Given the description of an element on the screen output the (x, y) to click on. 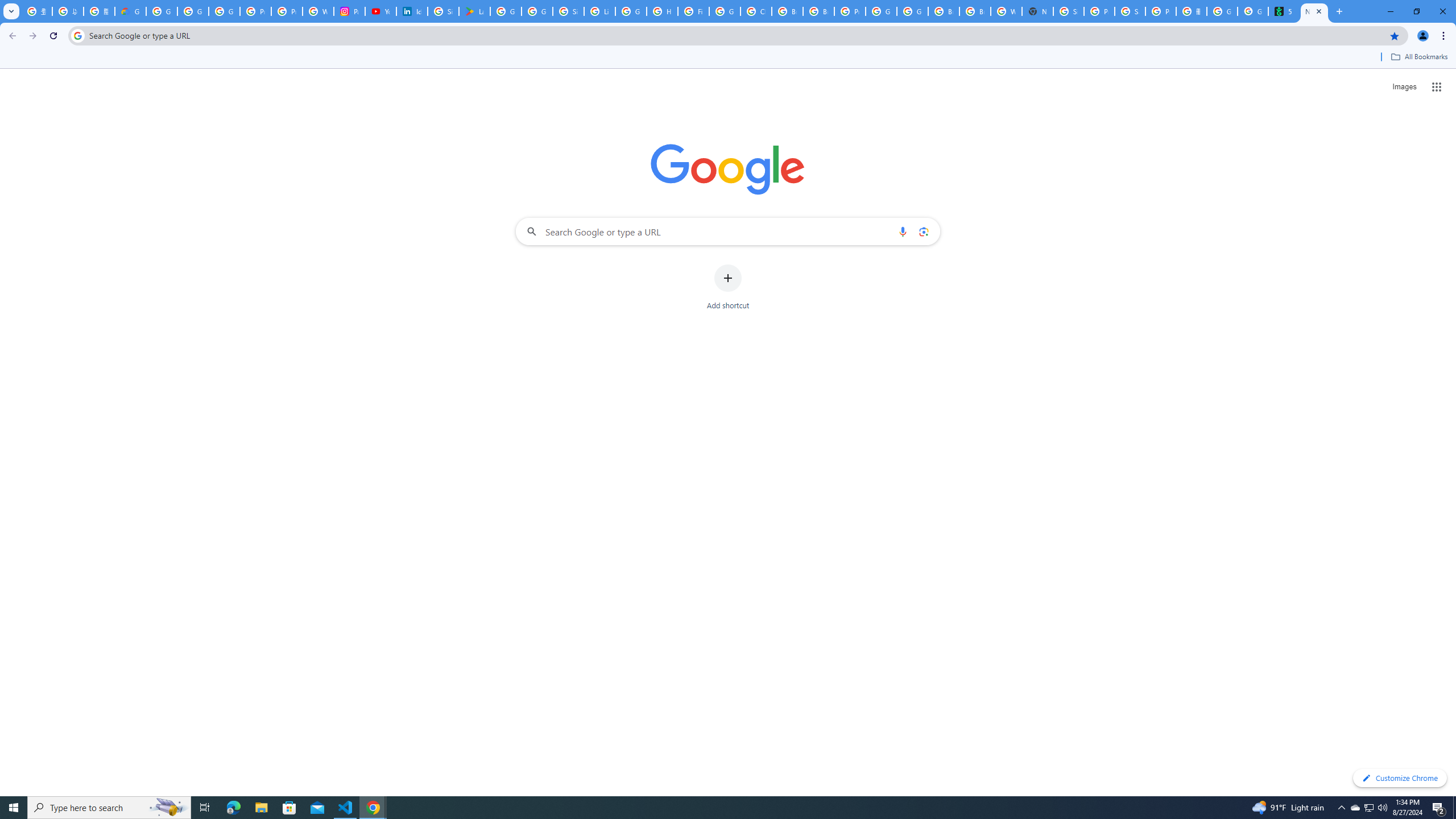
New Tab (1314, 11)
Sign in - Google Accounts (1068, 11)
Sign in - Google Accounts (568, 11)
YouTube Culture & Trends - On The Rise: Handcam Videos (380, 11)
